Given the description of an element on the screen output the (x, y) to click on. 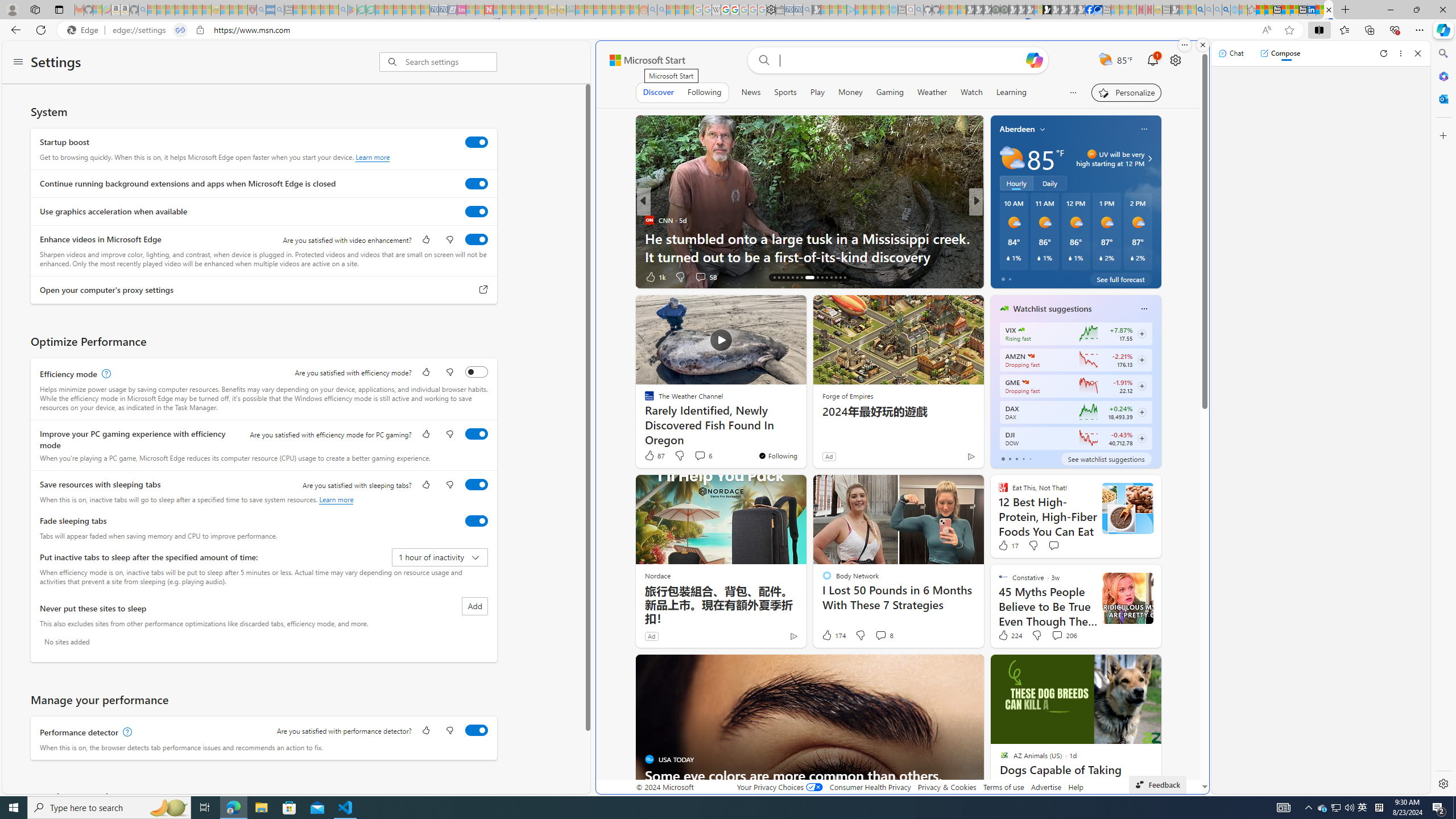
Help (1075, 786)
Bing Real Estate - Home sales and rental listings - Sleeping (806, 9)
View comments 6 Comment (702, 455)
Wallet - Sleeping (779, 9)
Your Privacy Choices (779, 786)
Aberdeen (1016, 128)
17 Like (1007, 545)
Enter your search term (901, 59)
Startup boost (476, 142)
